Given the description of an element on the screen output the (x, y) to click on. 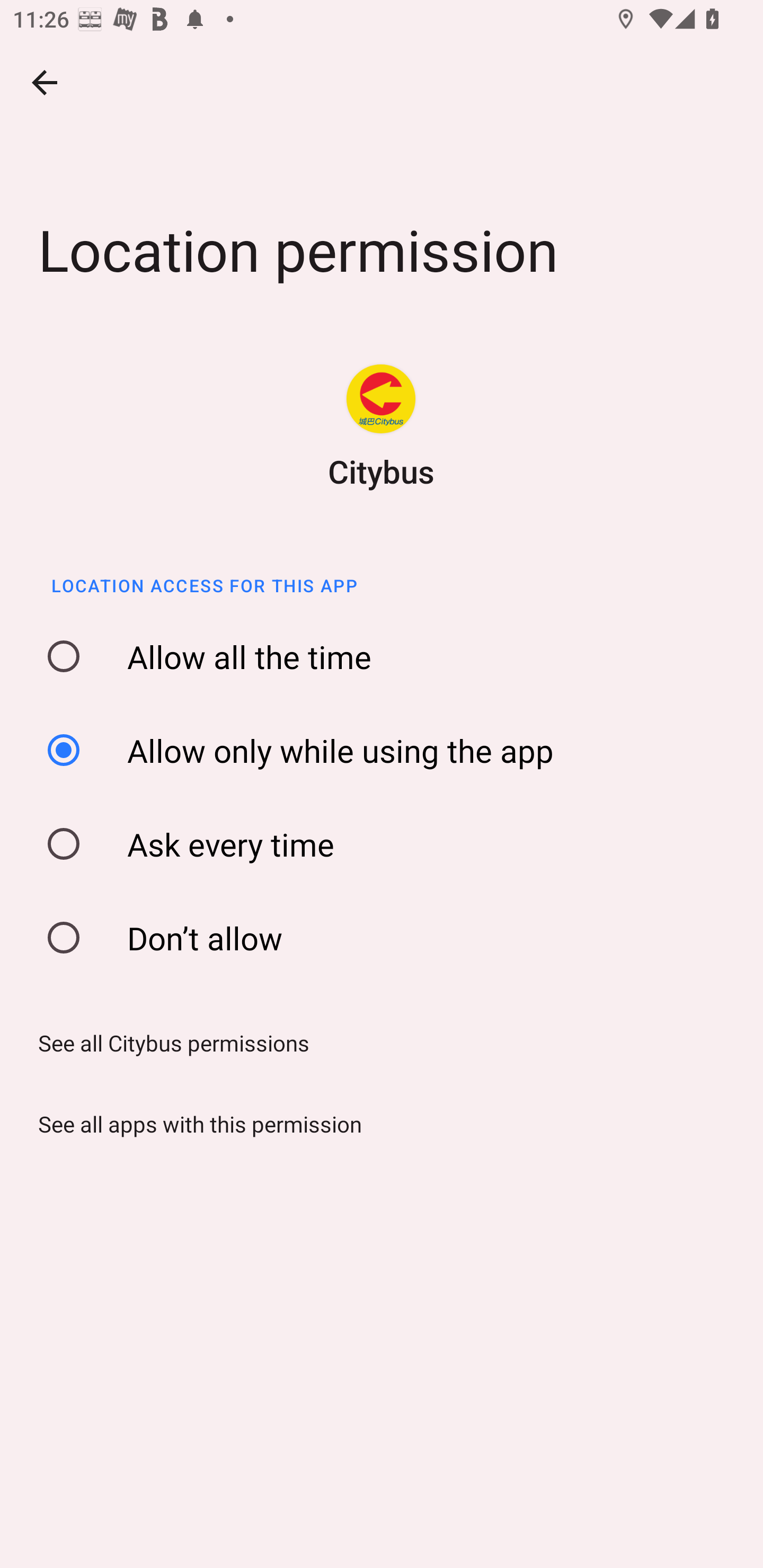
Back (44, 82)
Allow all the time (387, 656)
Allow only while using the app (387, 750)
Ask every time (387, 844)
Don’t allow (387, 937)
See all Citybus permissions (167, 1042)
See all apps with this permission (193, 1124)
